Given the description of an element on the screen output the (x, y) to click on. 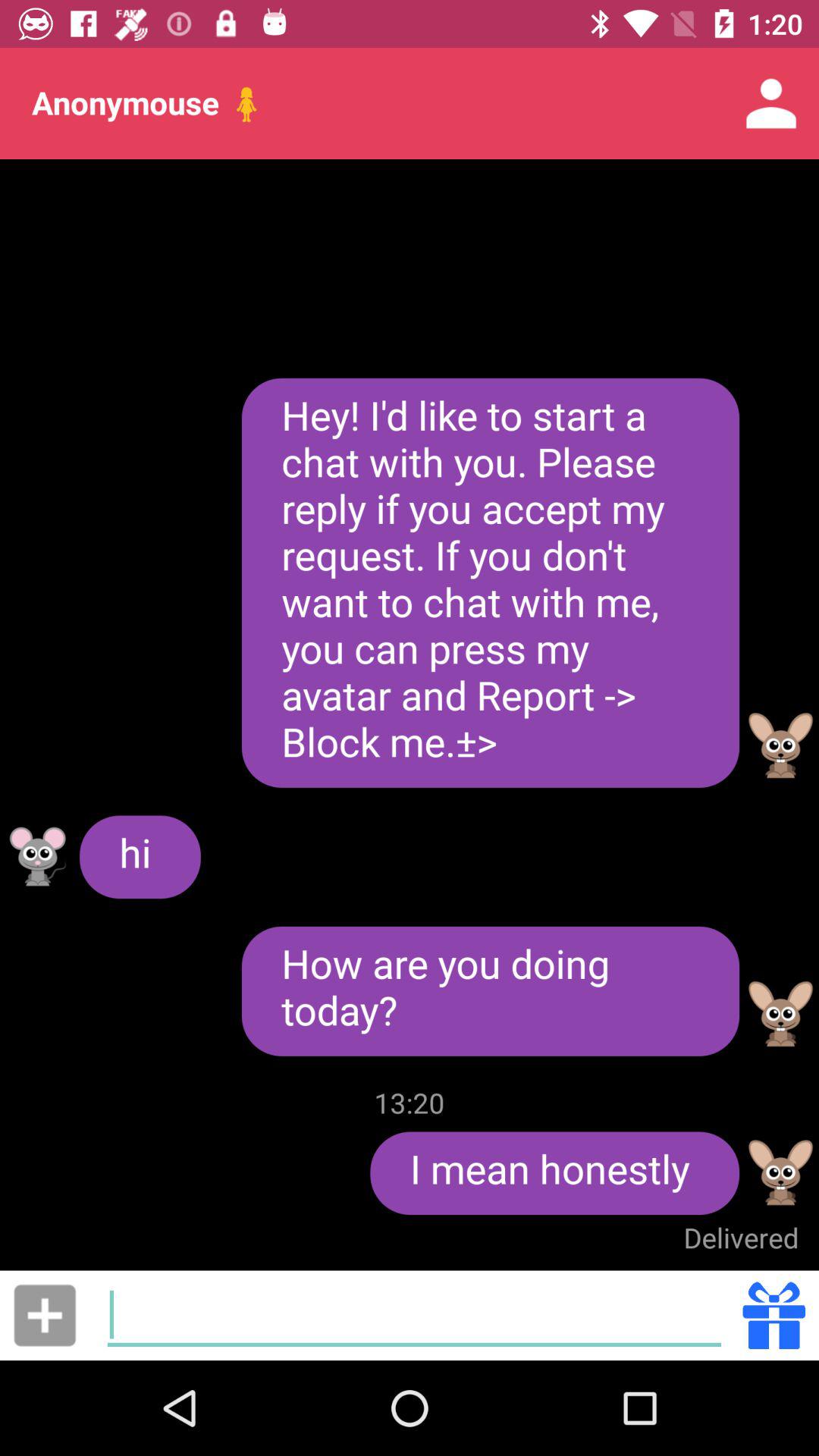
choose item at the bottom left corner (44, 1315)
